Given the description of an element on the screen output the (x, y) to click on. 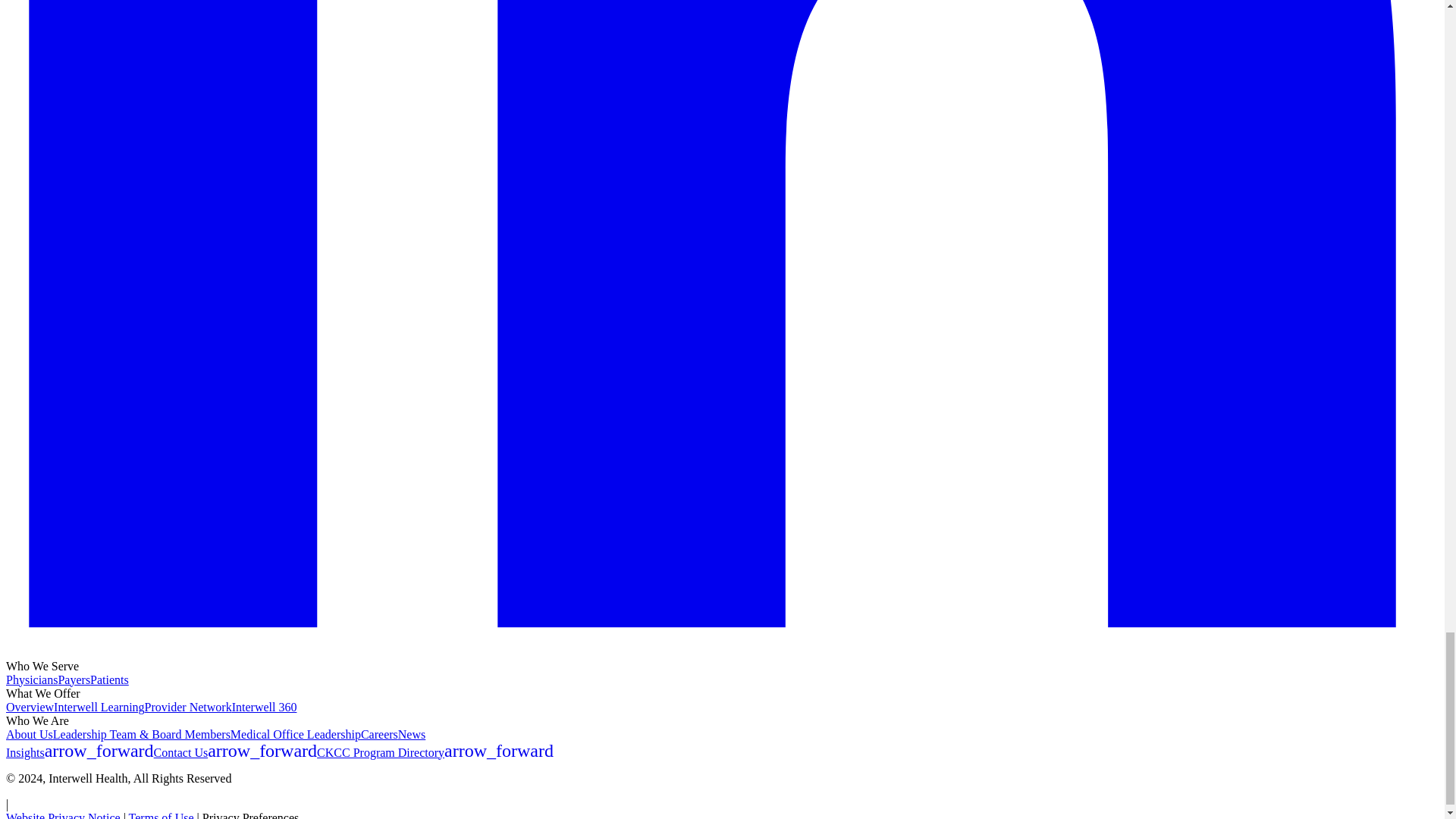
Physicians (31, 679)
Careers (379, 734)
Interwell Learning (98, 707)
Medical Office Leadership (295, 734)
About Us (28, 734)
Interwell 360 (264, 707)
Patients (109, 679)
Payers (74, 679)
News (411, 734)
Provider Network (187, 707)
Overview (29, 707)
